Given the description of an element on the screen output the (x, y) to click on. 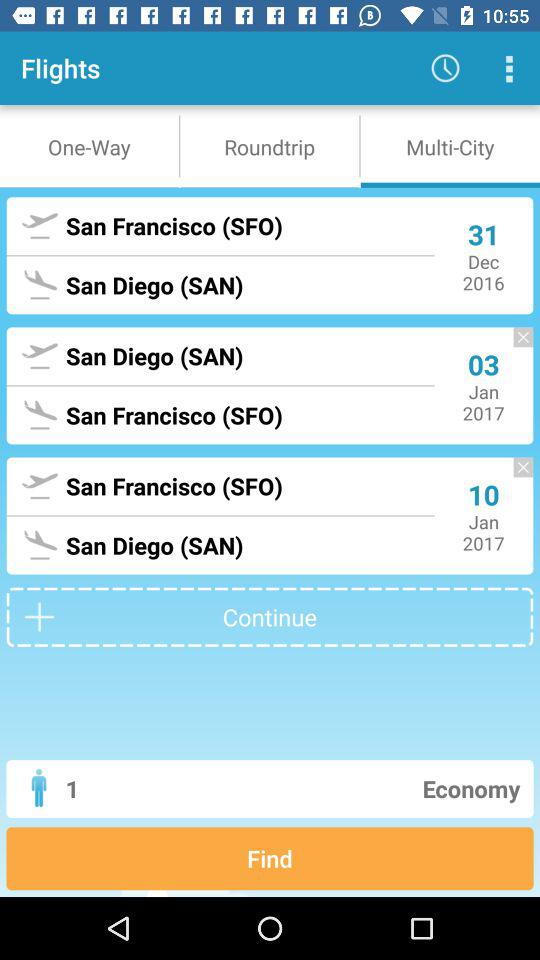
press the item next to 1 item (346, 788)
